Given the description of an element on the screen output the (x, y) to click on. 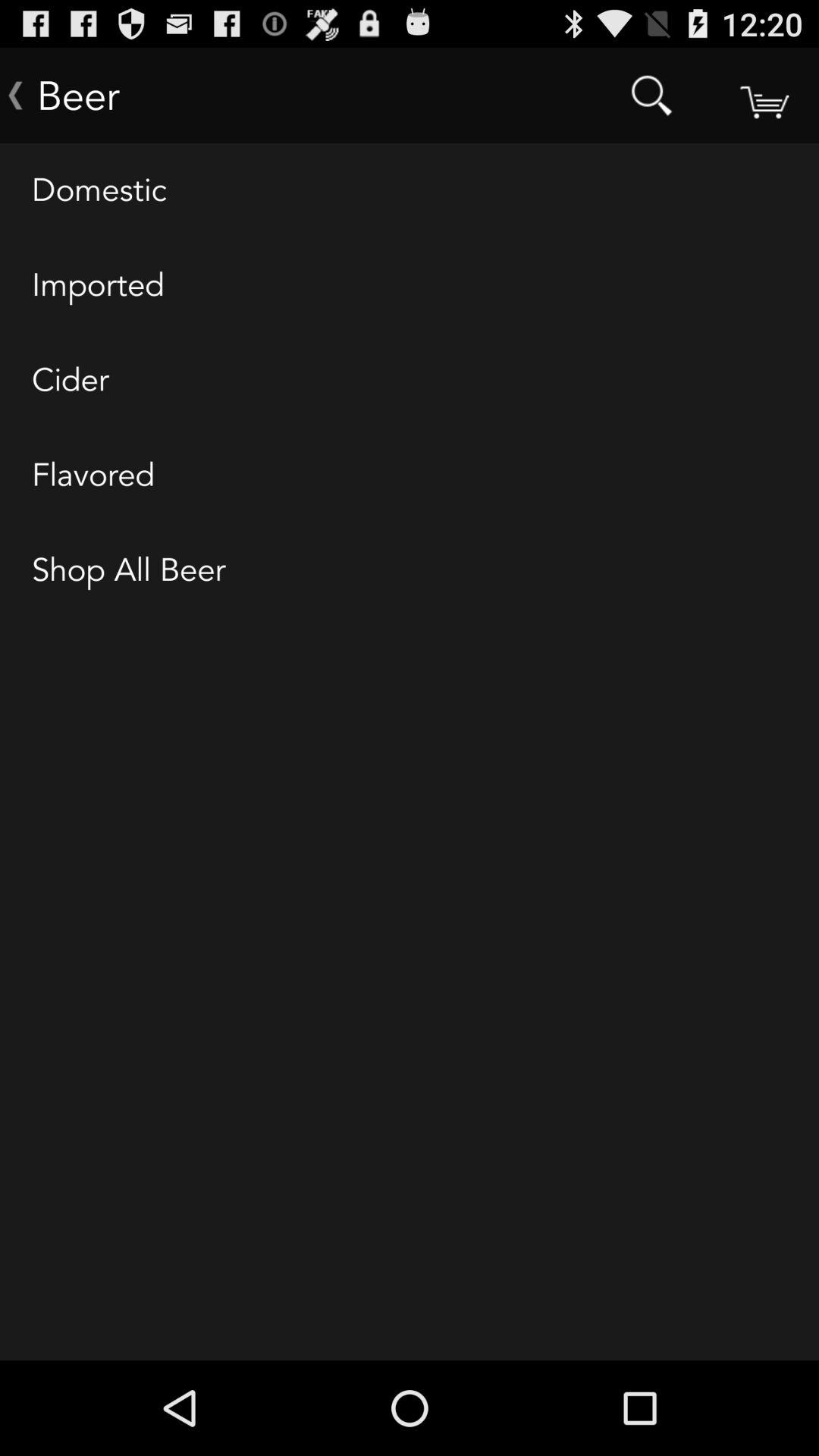
scroll until shop all beer item (409, 570)
